Given the description of an element on the screen output the (x, y) to click on. 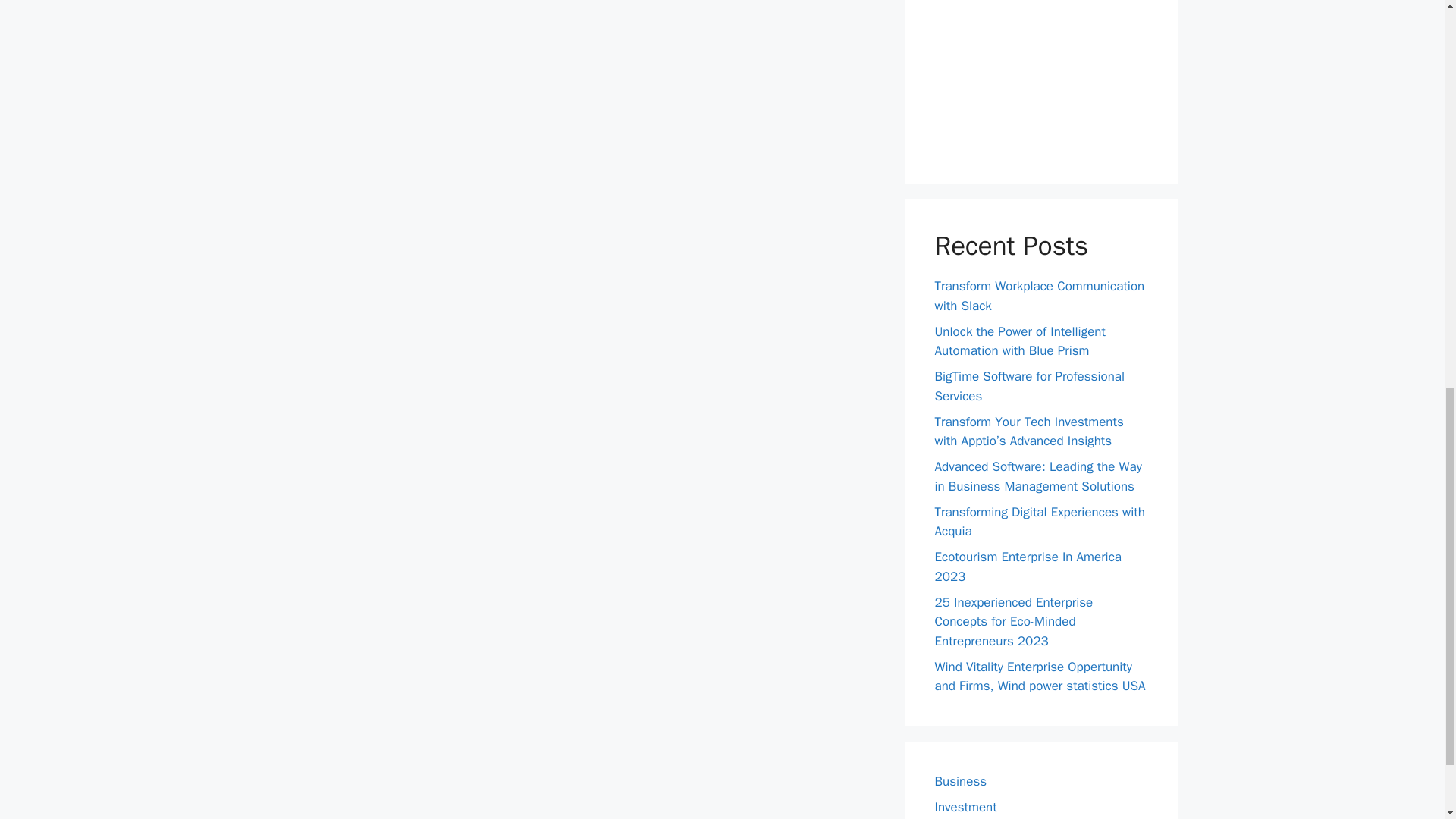
Ecotourism Enterprise In America 2023 (1027, 566)
BigTime Software for Professional Services (1029, 386)
Transform Workplace Communication with Slack (1039, 295)
Business (960, 781)
Unlock the Power of Intelligent Automation with Blue Prism (1019, 340)
Investment (964, 806)
Transforming Digital Experiences with Acquia (1039, 520)
